Given the description of an element on the screen output the (x, y) to click on. 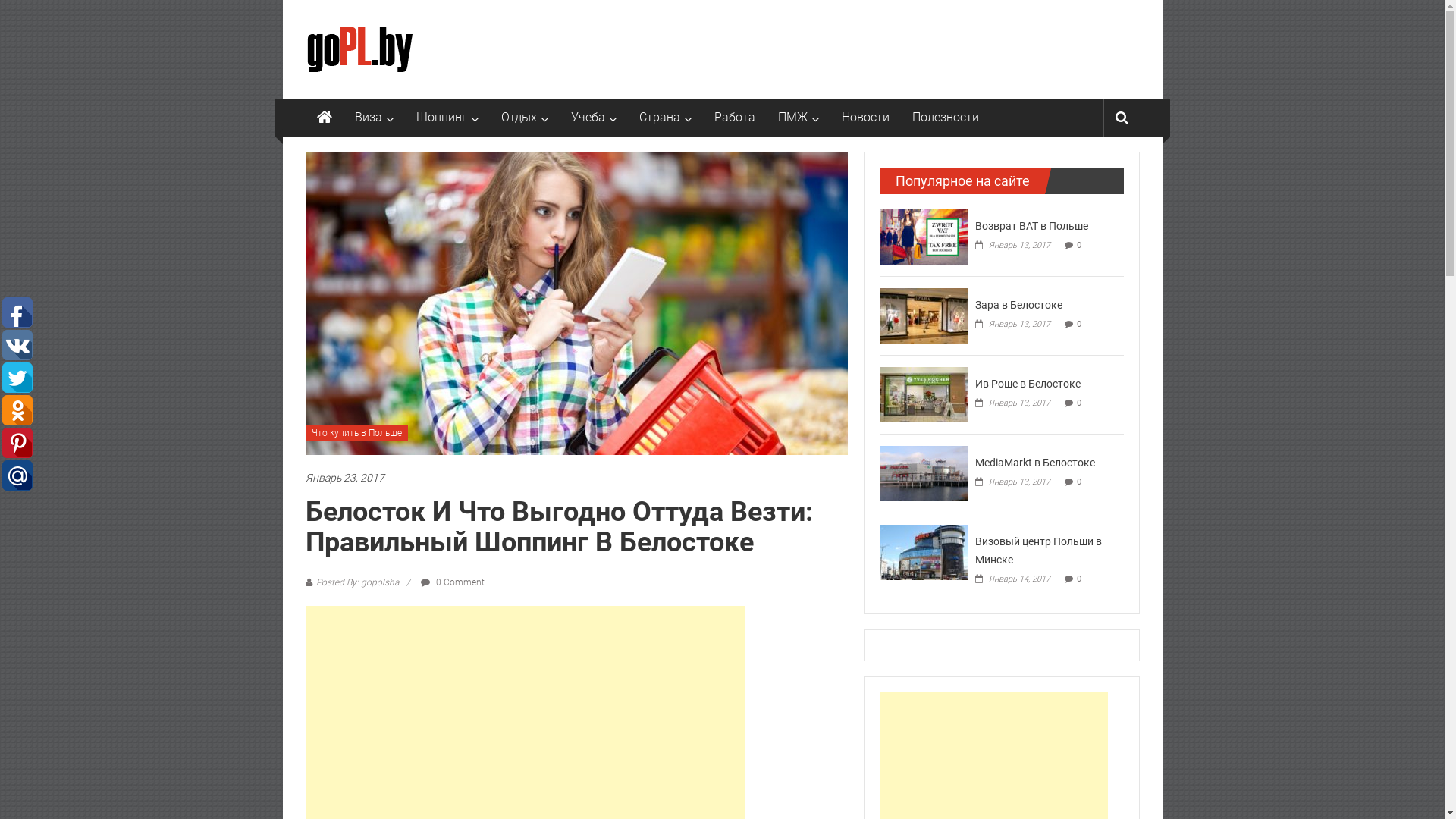
0 Element type: text (1078, 324)
Skip to content Element type: text (321, 9)
Posted By: gopolsha Element type: text (356, 582)
goPL.by Element type: hover (323, 117)
0 Comment Element type: text (451, 582)
goPL.by Element type: text (345, 29)
0 Element type: text (1078, 481)
0 Element type: text (1078, 578)
0 Element type: text (1078, 402)
0 Element type: text (1078, 245)
